Given the description of an element on the screen output the (x, y) to click on. 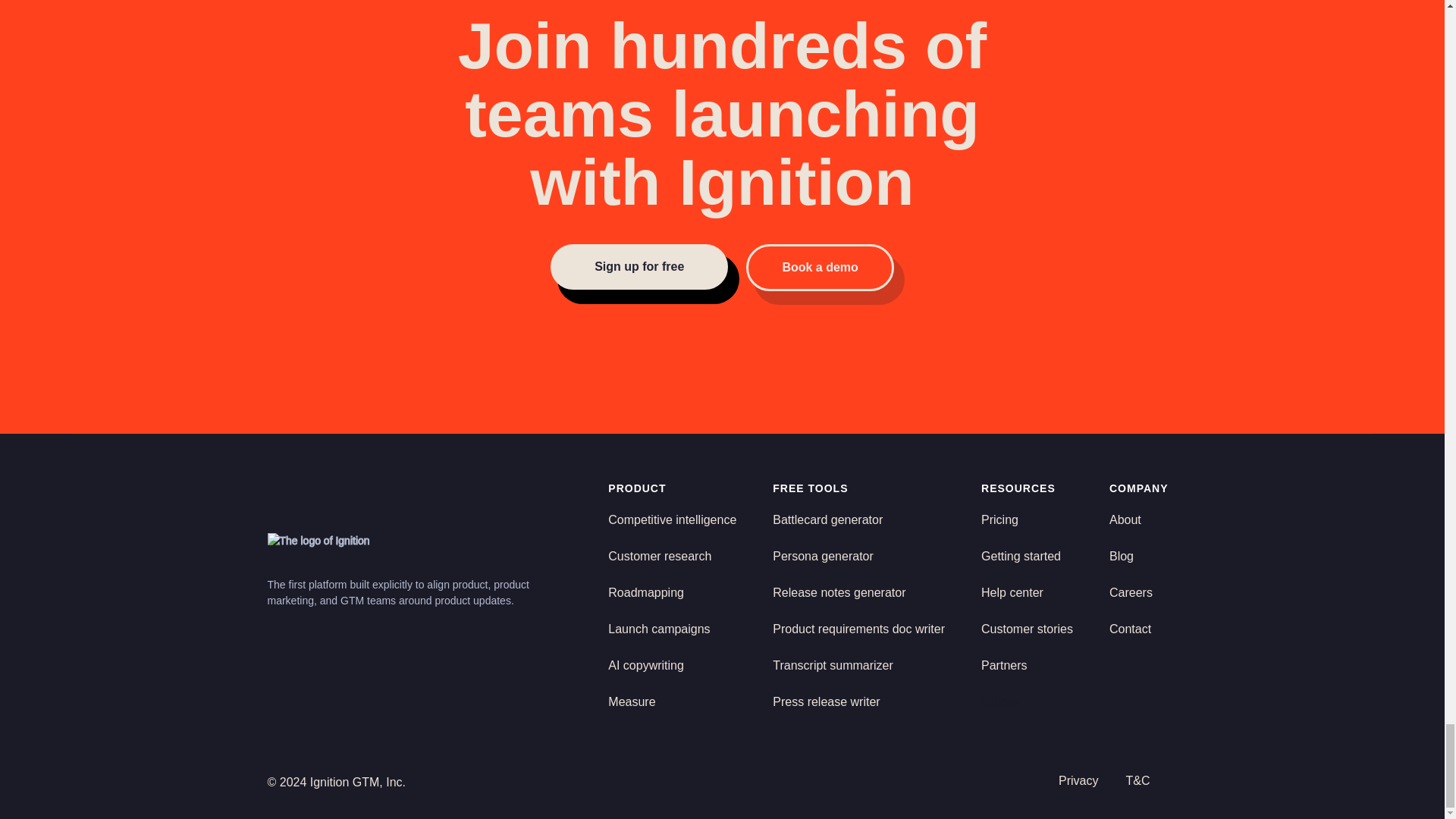
Persona generator (823, 556)
AI copywriting (646, 665)
Book a demo (819, 267)
Transcript summarizer (833, 665)
Measure (631, 710)
Product requirements doc writer (858, 628)
Customer research (659, 556)
Release notes generator (839, 592)
Customer stories (1027, 628)
Help center (1012, 592)
Roadmapping (646, 592)
Press release writer (826, 701)
Sign up for free (639, 266)
Pricing (999, 519)
Battlecard generator (827, 519)
